Given the description of an element on the screen output the (x, y) to click on. 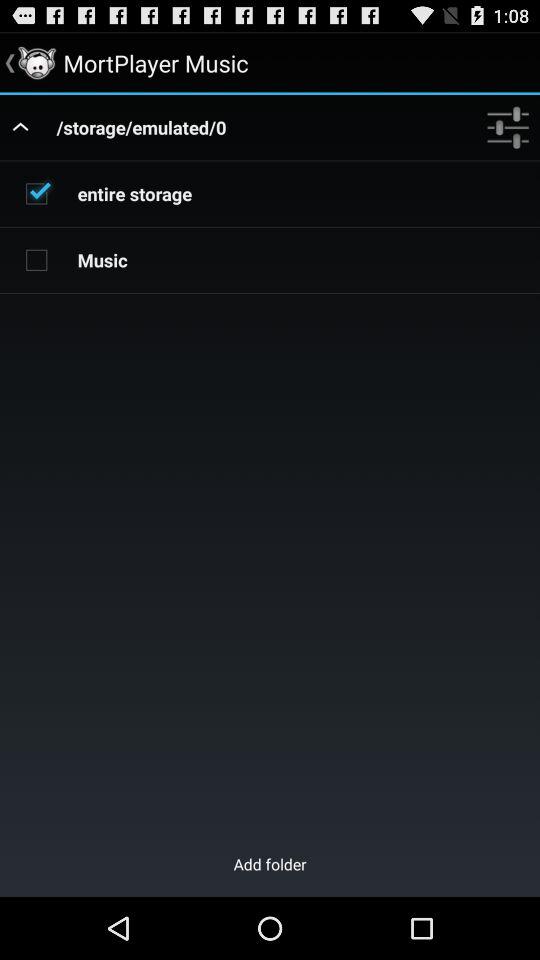
music check box button (36, 259)
